Given the description of an element on the screen output the (x, y) to click on. 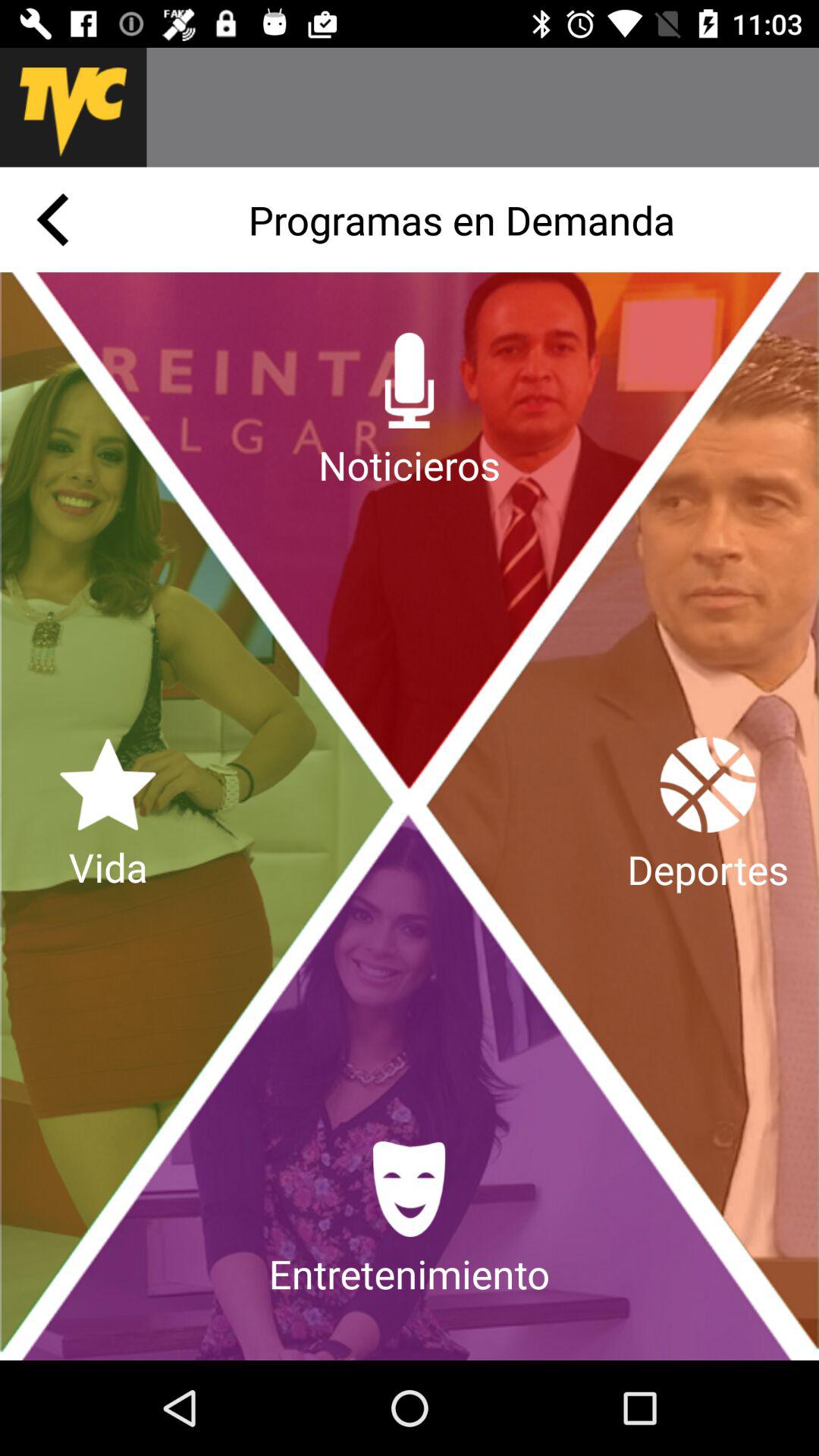
launch the app to the left of programas en demanda item (52, 219)
